Given the description of an element on the screen output the (x, y) to click on. 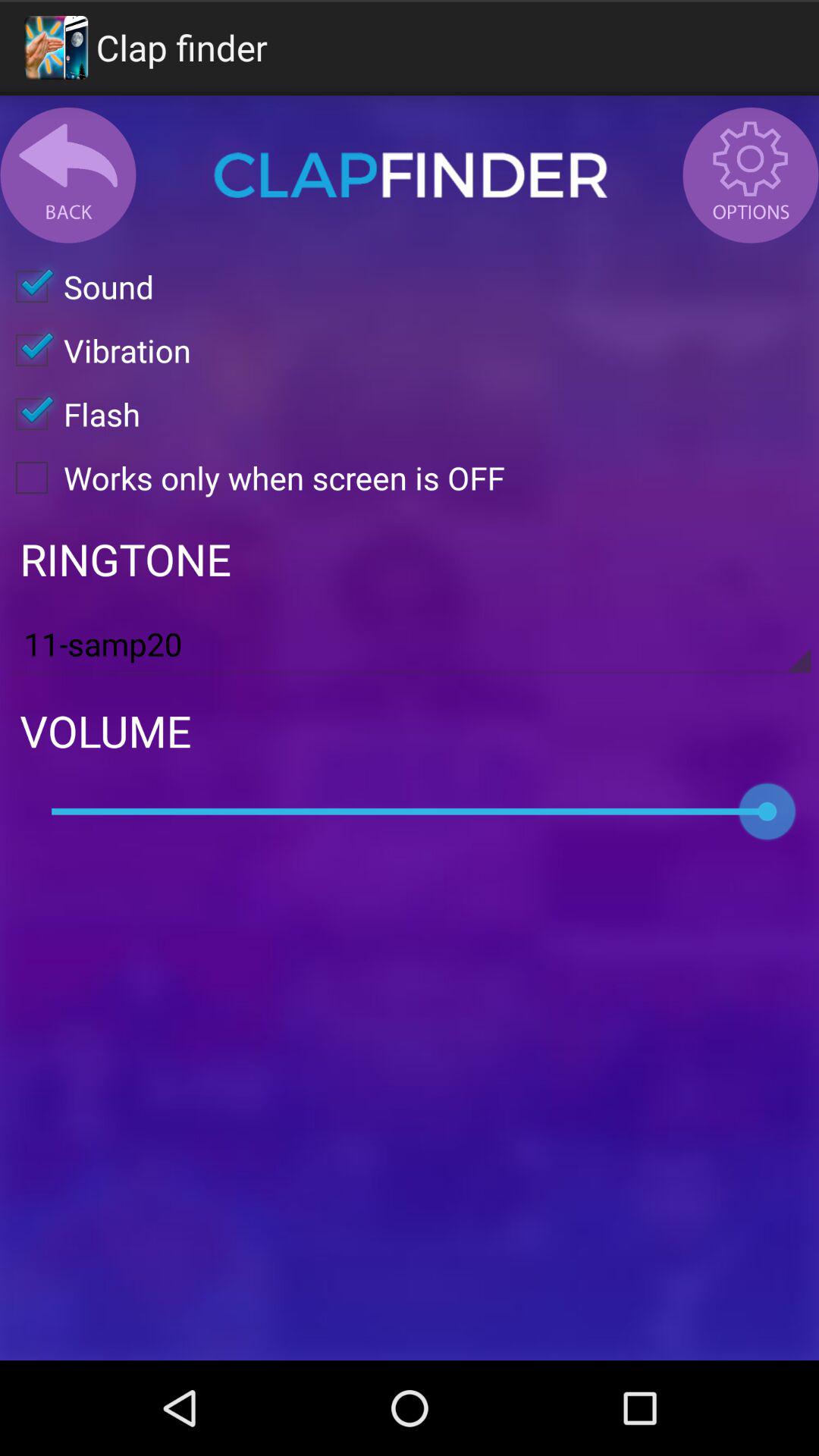
go back (68, 174)
